Given the description of an element on the screen output the (x, y) to click on. 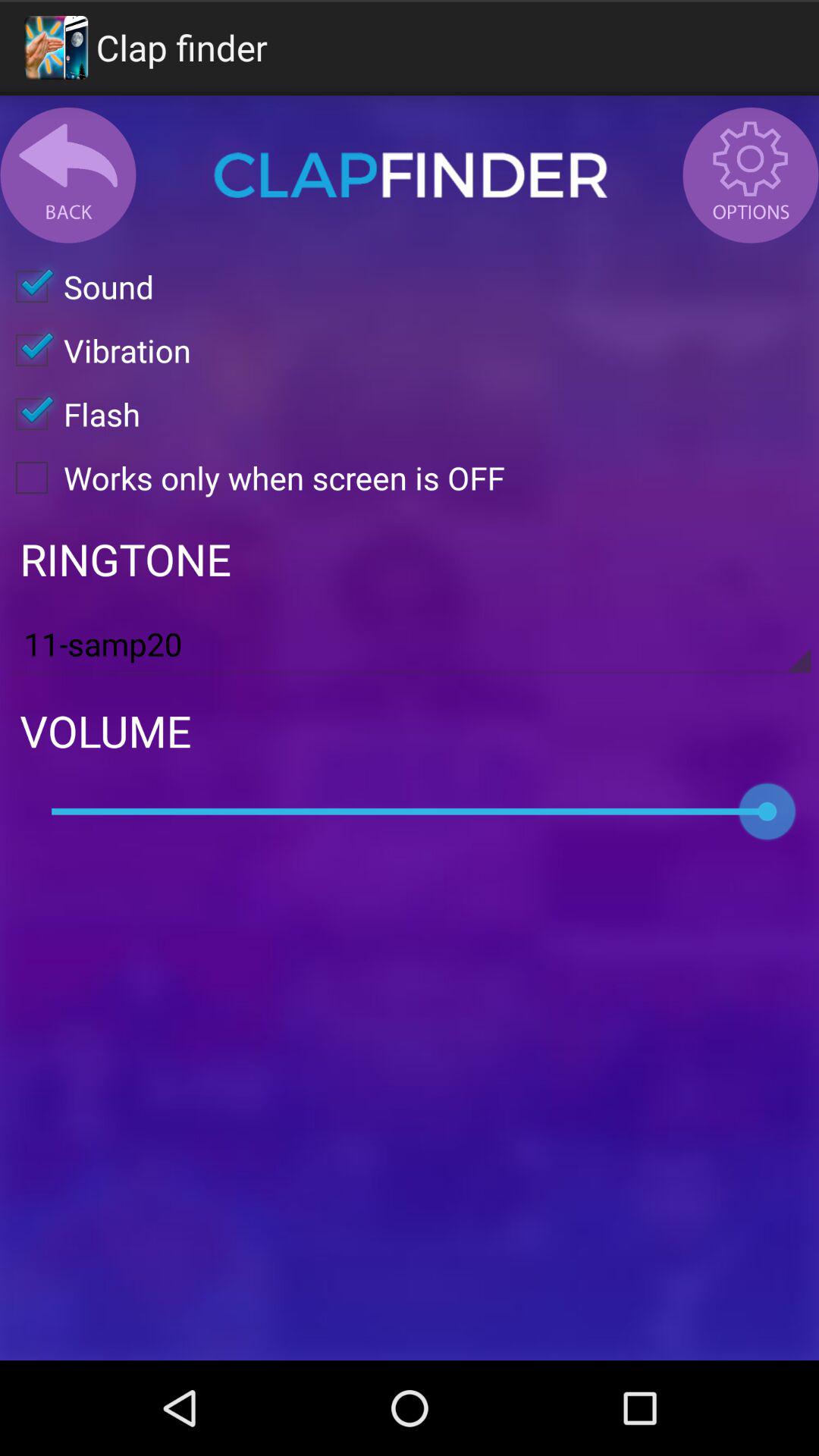
go back (68, 174)
